Given the description of an element on the screen output the (x, y) to click on. 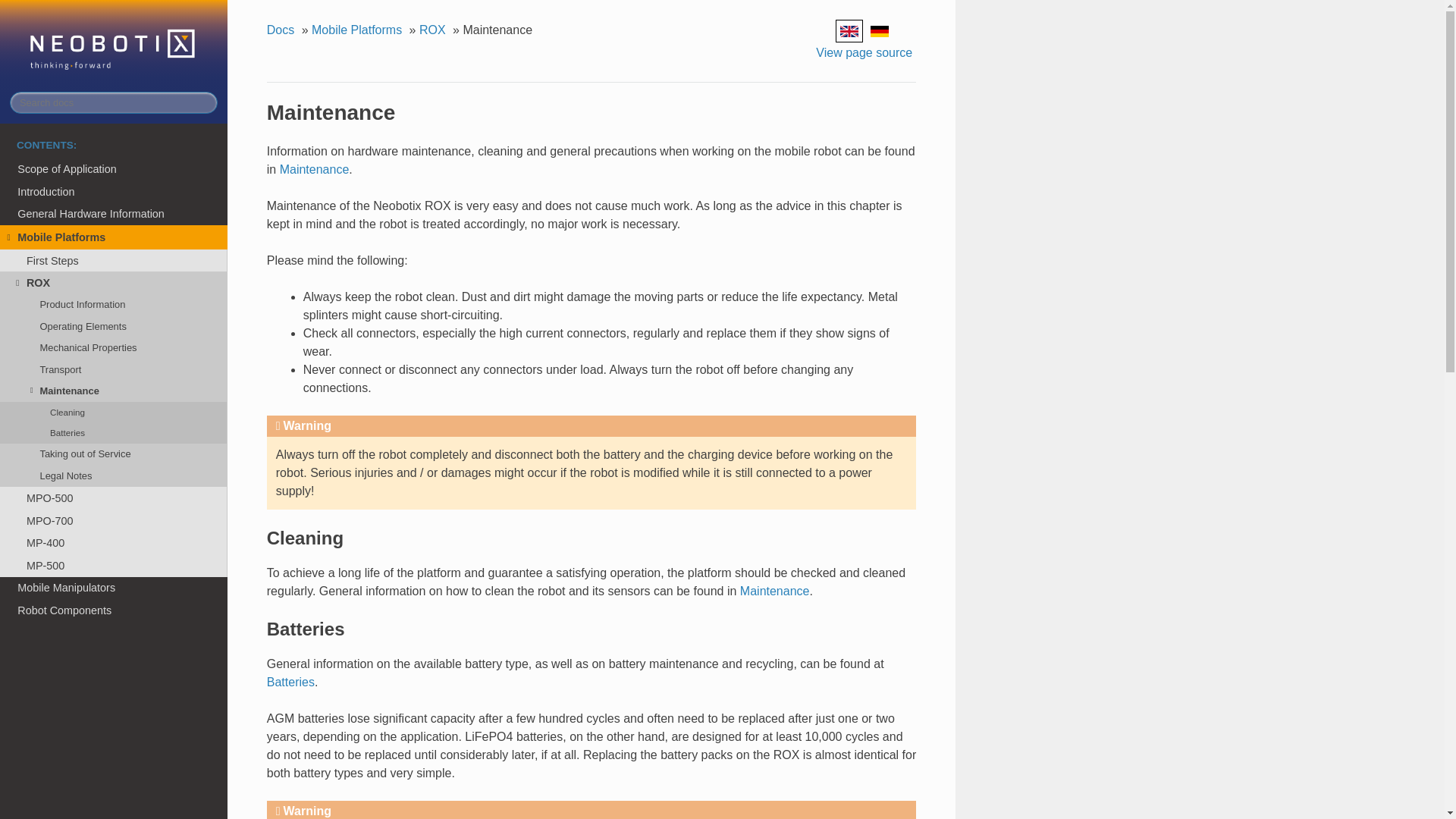
First Steps (113, 260)
MPO-500 (113, 497)
MP-500 (113, 565)
Product Information (113, 304)
Maintenance (314, 169)
Operating Elements (113, 325)
Docs (282, 29)
Legal Notes (113, 476)
Transport (113, 369)
MPO-700 (113, 520)
MP-400 (113, 542)
ROX (113, 282)
Scope of Application (113, 169)
Taking out of Service (113, 454)
